Given the description of an element on the screen output the (x, y) to click on. 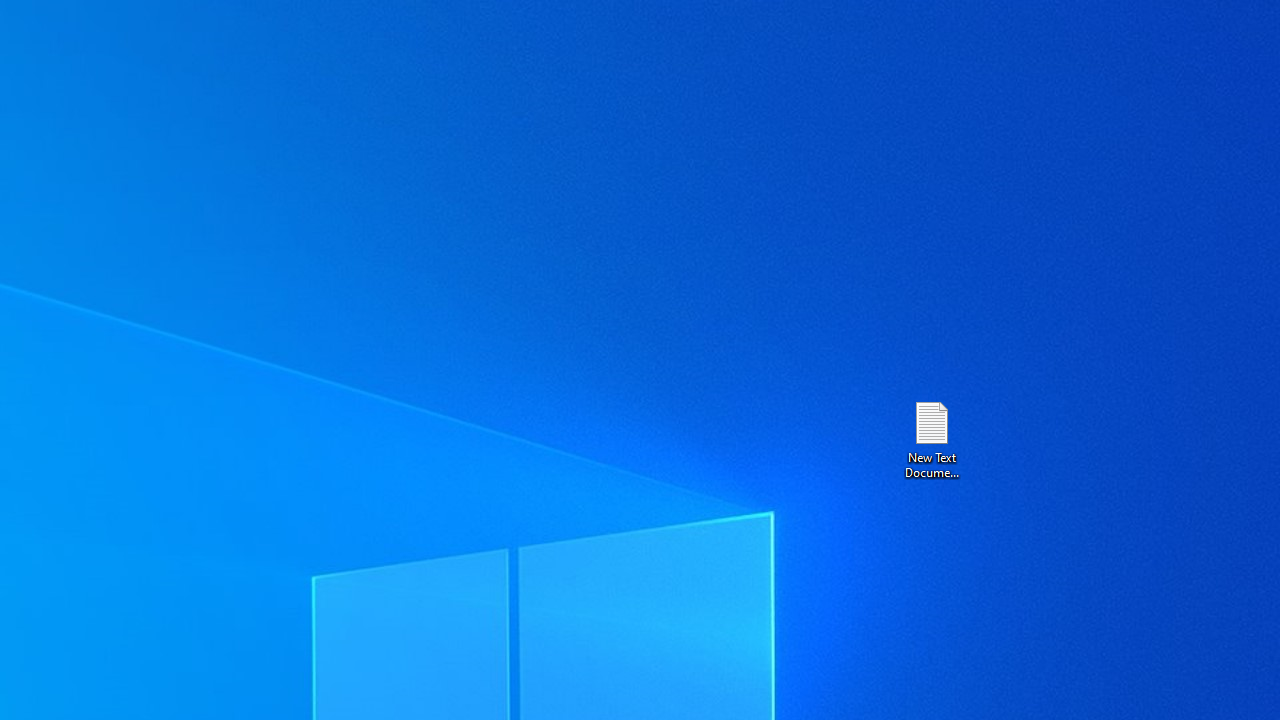
Video (31, 102)
